Given the description of an element on the screen output the (x, y) to click on. 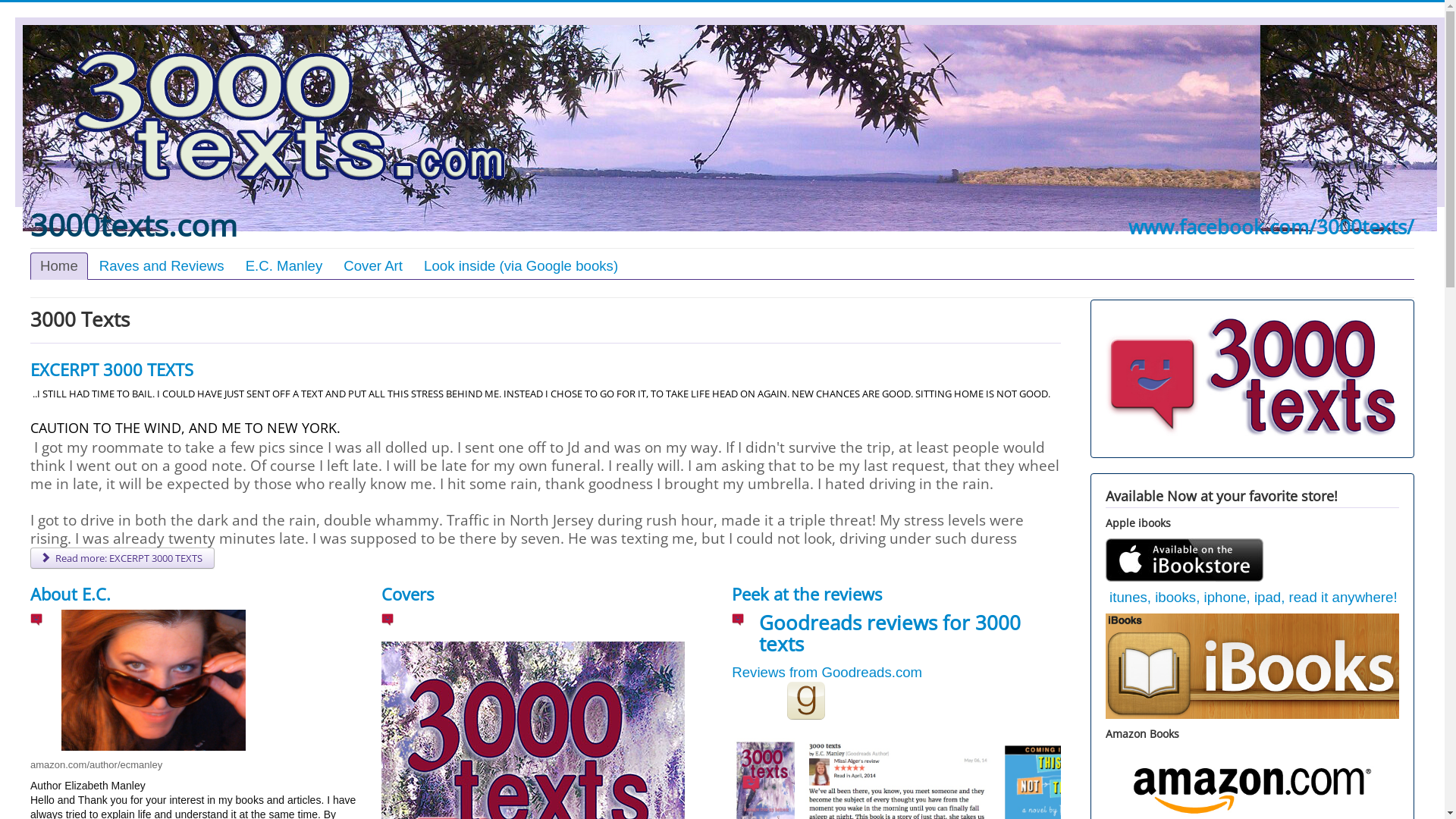
Goodreads reviews for 3000 texts Element type: text (889, 632)
E.C. Manley Element type: text (283, 265)
itunes, ibooks, iphone, ipad, read it anywhere! Element type: hover (1252, 665)
3000texts.com Element type: text (133, 225)
Raves and Reviews Element type: text (161, 265)
 www.facebook.com/3000texts/ Element type: text (1268, 226)
Covers Element type: text (407, 593)
Cover Art Element type: text (372, 265)
Home Element type: text (58, 265)
Look inside (via Google books) Element type: text (520, 265)
Buy a paperback, get a free kindle copy! Element type: hover (1252, 791)
EXCERPT 3000 TEXTS  Element type: text (113, 368)
Read more: EXCERPT 3000 TEXTS  Element type: text (122, 557)
itunes, ibooks, iphone, ipad, read it anywhere! Element type: hover (1184, 559)
About E.C. Element type: text (70, 593)
Reviews from Goodreads.com Element type: text (826, 672)
itunes, ibooks, iphone, ipad, read it anywhere! Element type: text (1253, 597)
Peek at the reviews Element type: text (806, 593)
